Given the description of an element on the screen output the (x, y) to click on. 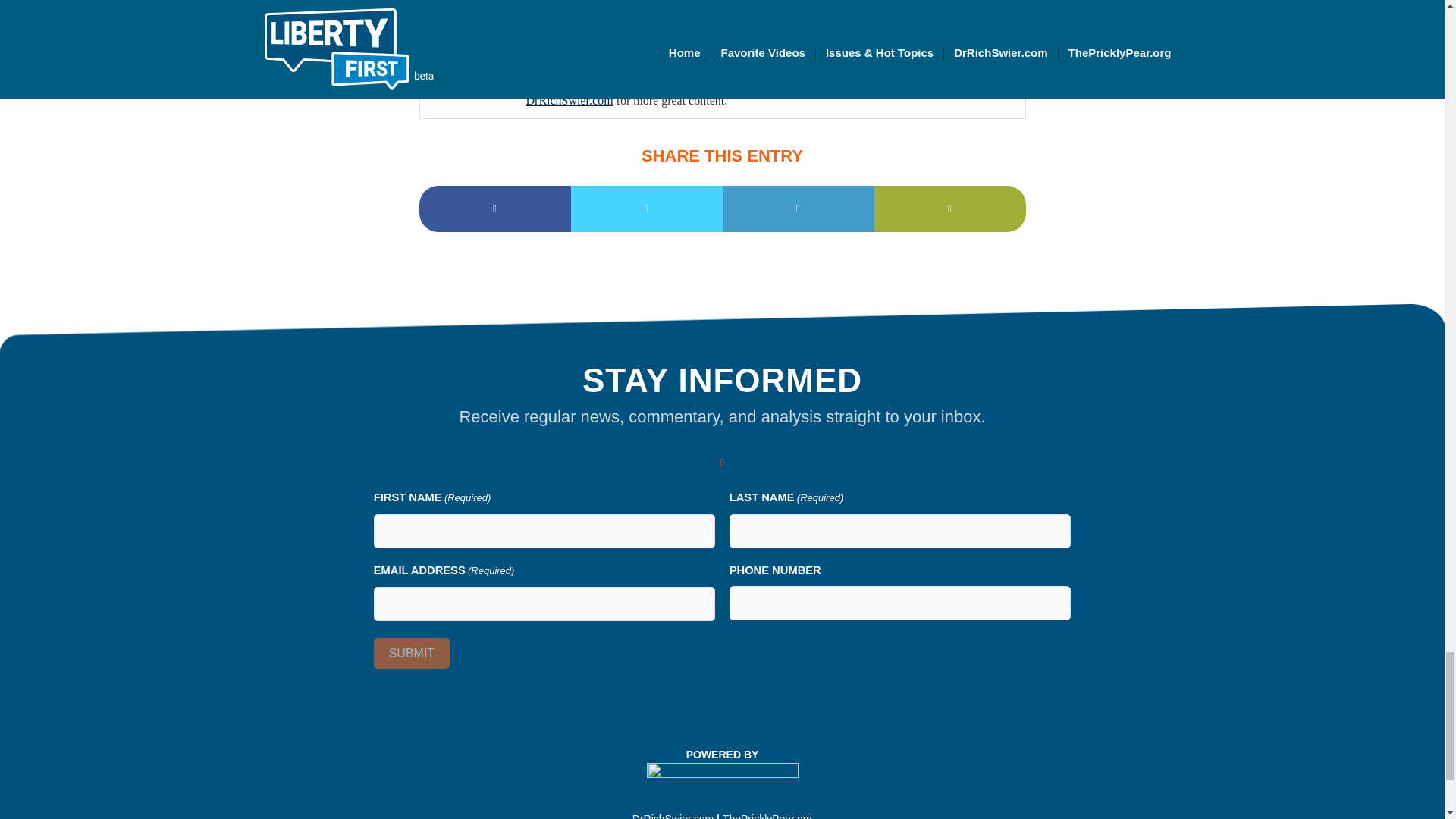
SUBMIT (411, 653)
